Given the description of an element on the screen output the (x, y) to click on. 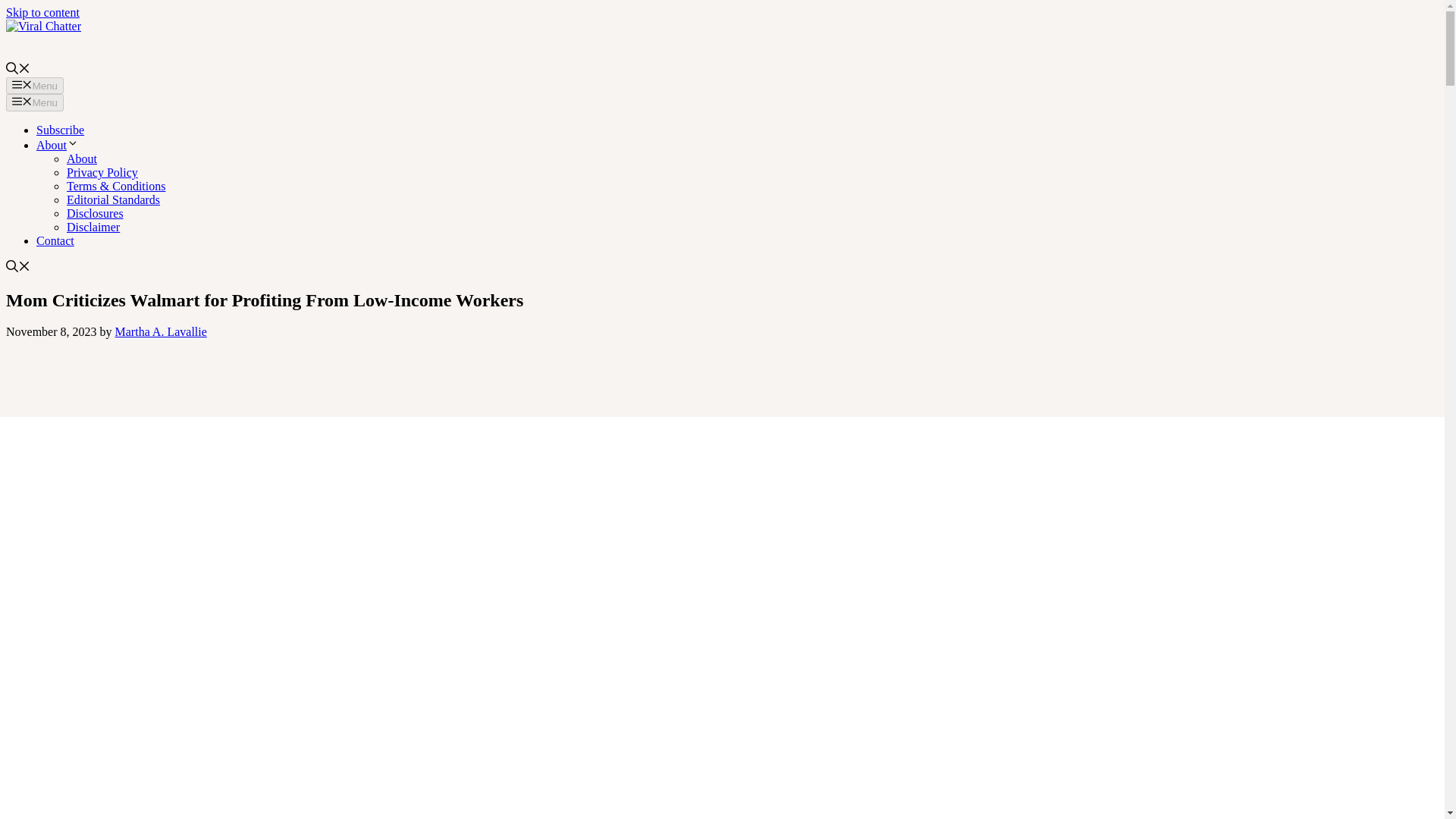
About (57, 144)
Martha A. Lavallie (160, 331)
Skip to content (42, 11)
Contact (55, 240)
Subscribe (60, 129)
Privacy Policy (102, 172)
Menu (34, 85)
View all posts by Martha A. Lavallie (160, 331)
Editorial Standards (113, 199)
Disclosures (94, 213)
